Given the description of an element on the screen output the (x, y) to click on. 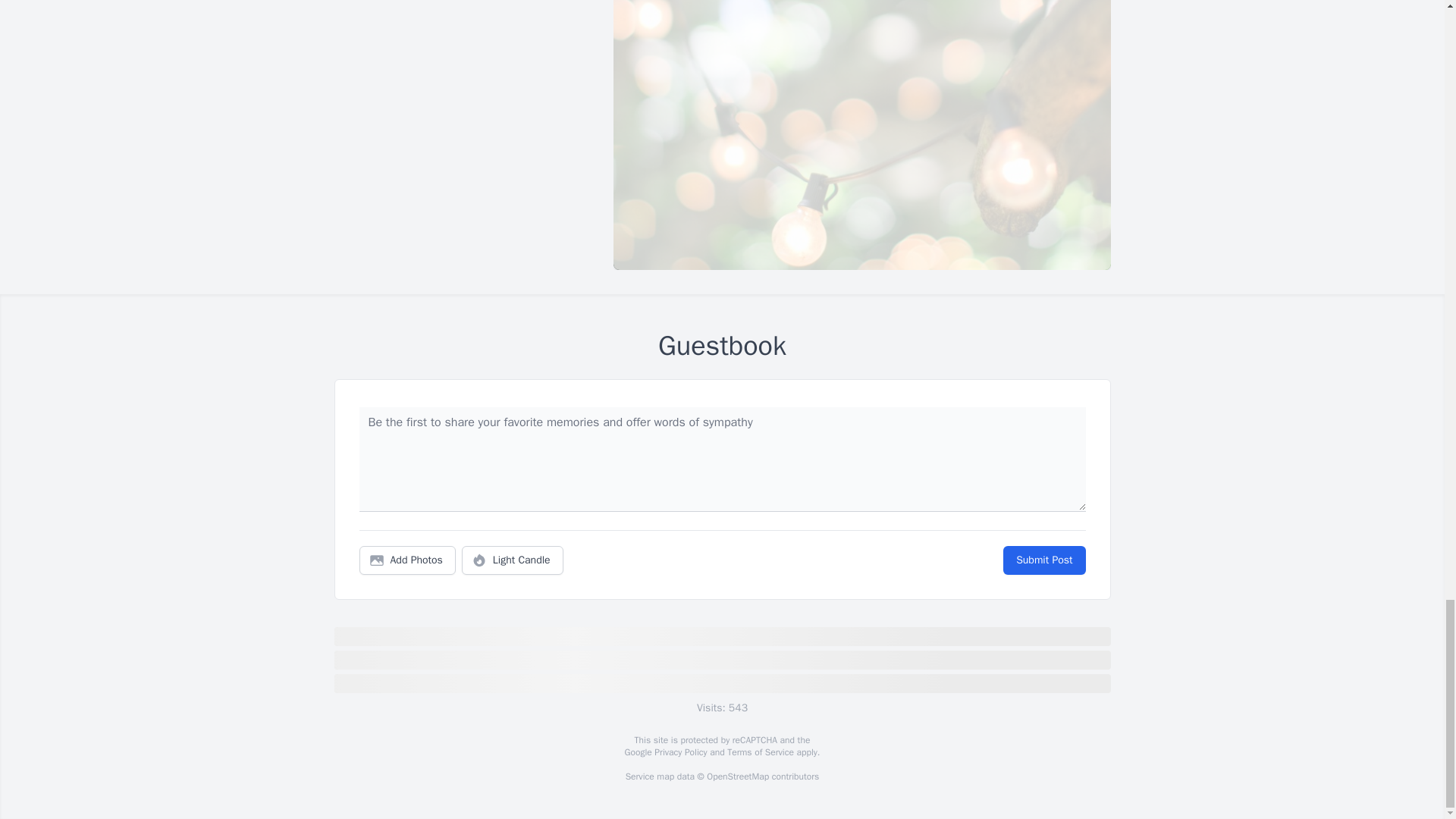
Light Candle (512, 560)
OpenStreetMap (737, 776)
Terms of Service (759, 752)
Submit Post (1043, 560)
Add Photos (407, 560)
Privacy Policy (679, 752)
